Given the description of an element on the screen output the (x, y) to click on. 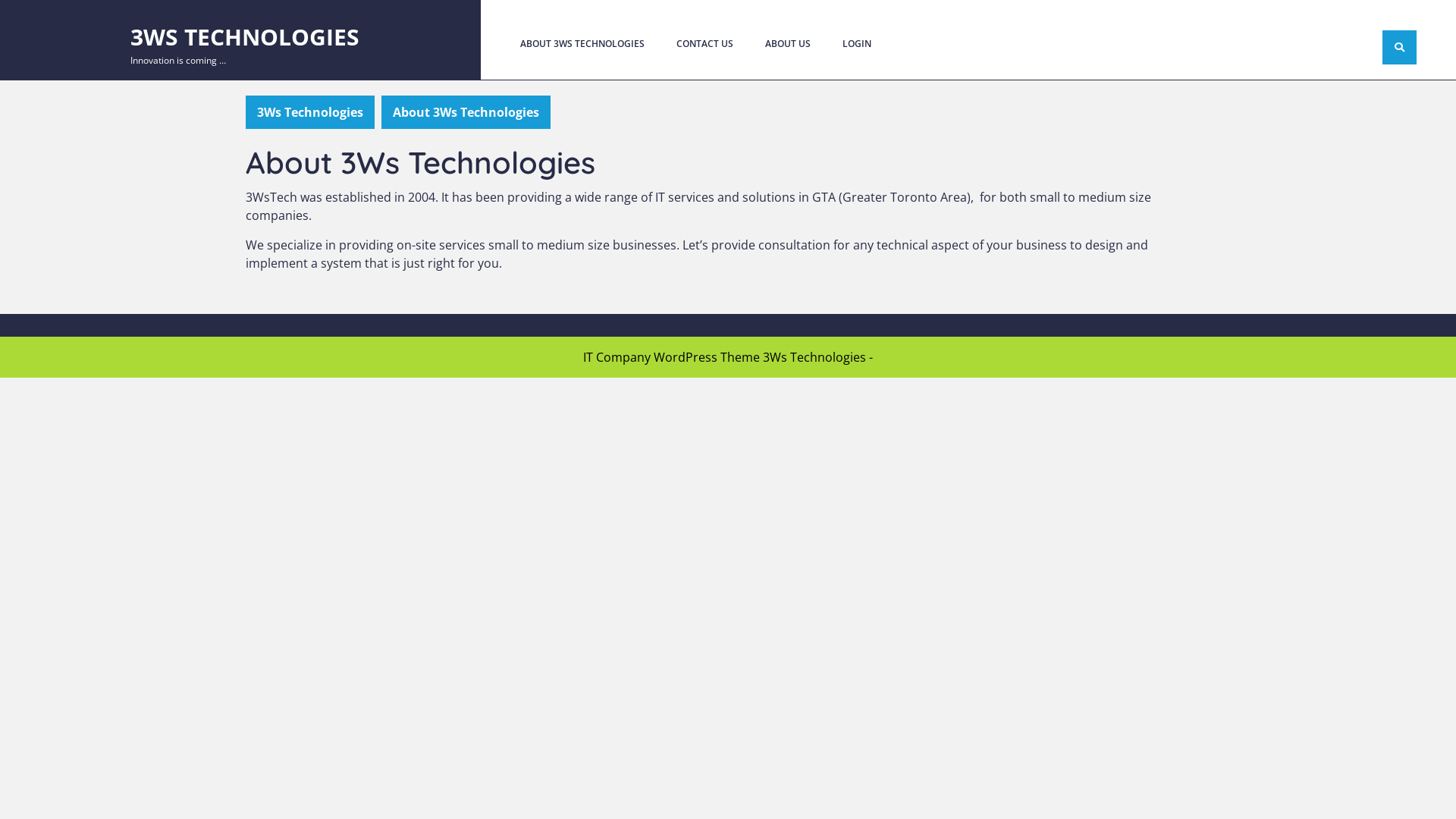
LOGIN Element type: text (856, 43)
CONTACT US Element type: text (704, 43)
ABOUT 3WS TECHNOLOGIES Element type: text (581, 43)
ABOUT US Element type: text (787, 43)
Search Element type: text (1163, 76)
3WS TECHNOLOGIES Element type: text (244, 36)
3Ws Technologies Element type: text (309, 111)
IT Company WordPress Theme Element type: text (671, 356)
